Given the description of an element on the screen output the (x, y) to click on. 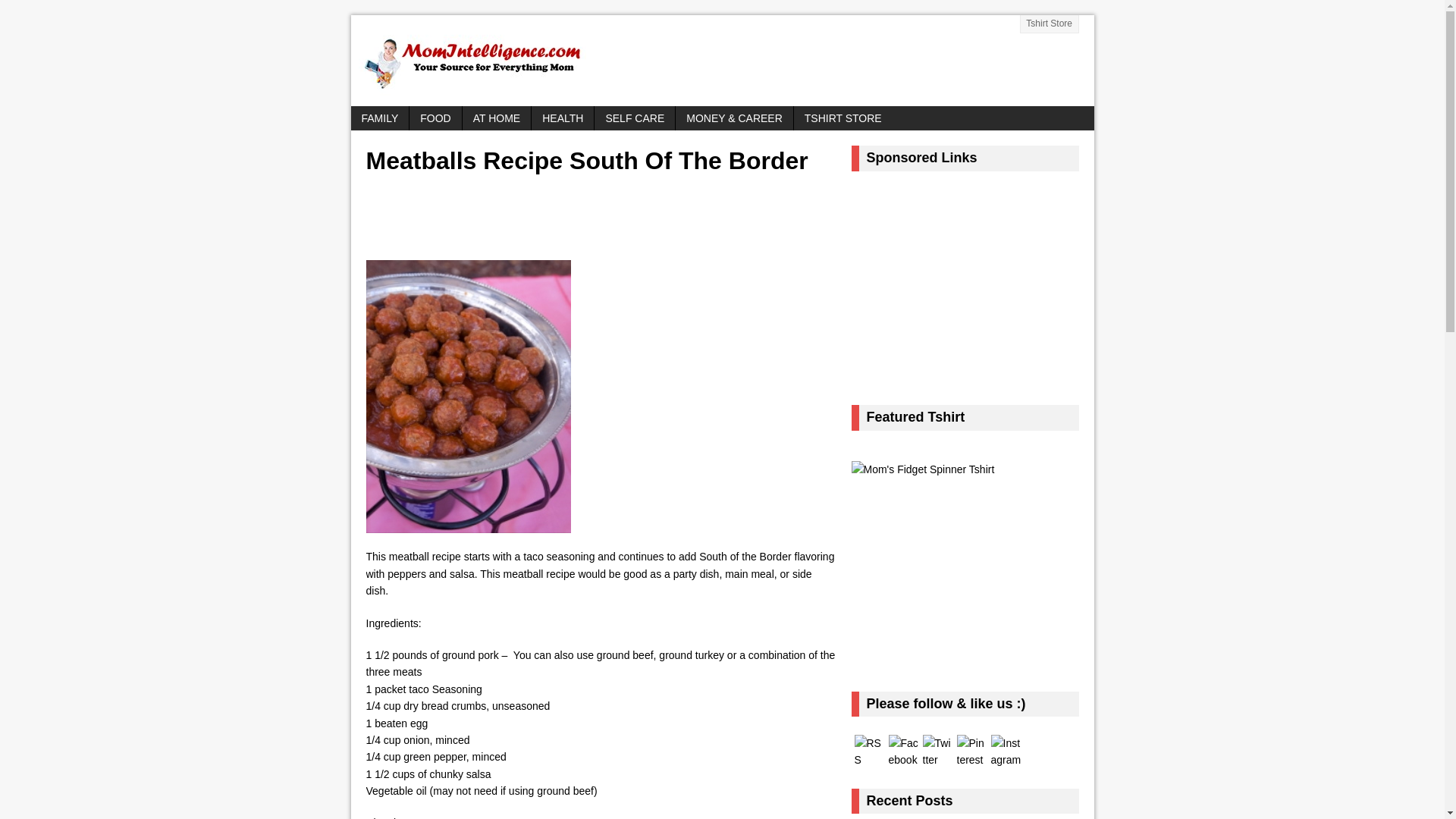
AT HOME (497, 118)
Twitter (936, 751)
FOOD (435, 118)
TSHIRT STORE (842, 118)
Tips, Recipes and Sanity for Moms (721, 60)
FAMILY (379, 118)
SELF CARE (634, 118)
Tshirt Store (1049, 23)
HEALTH (562, 118)
